Given the description of an element on the screen output the (x, y) to click on. 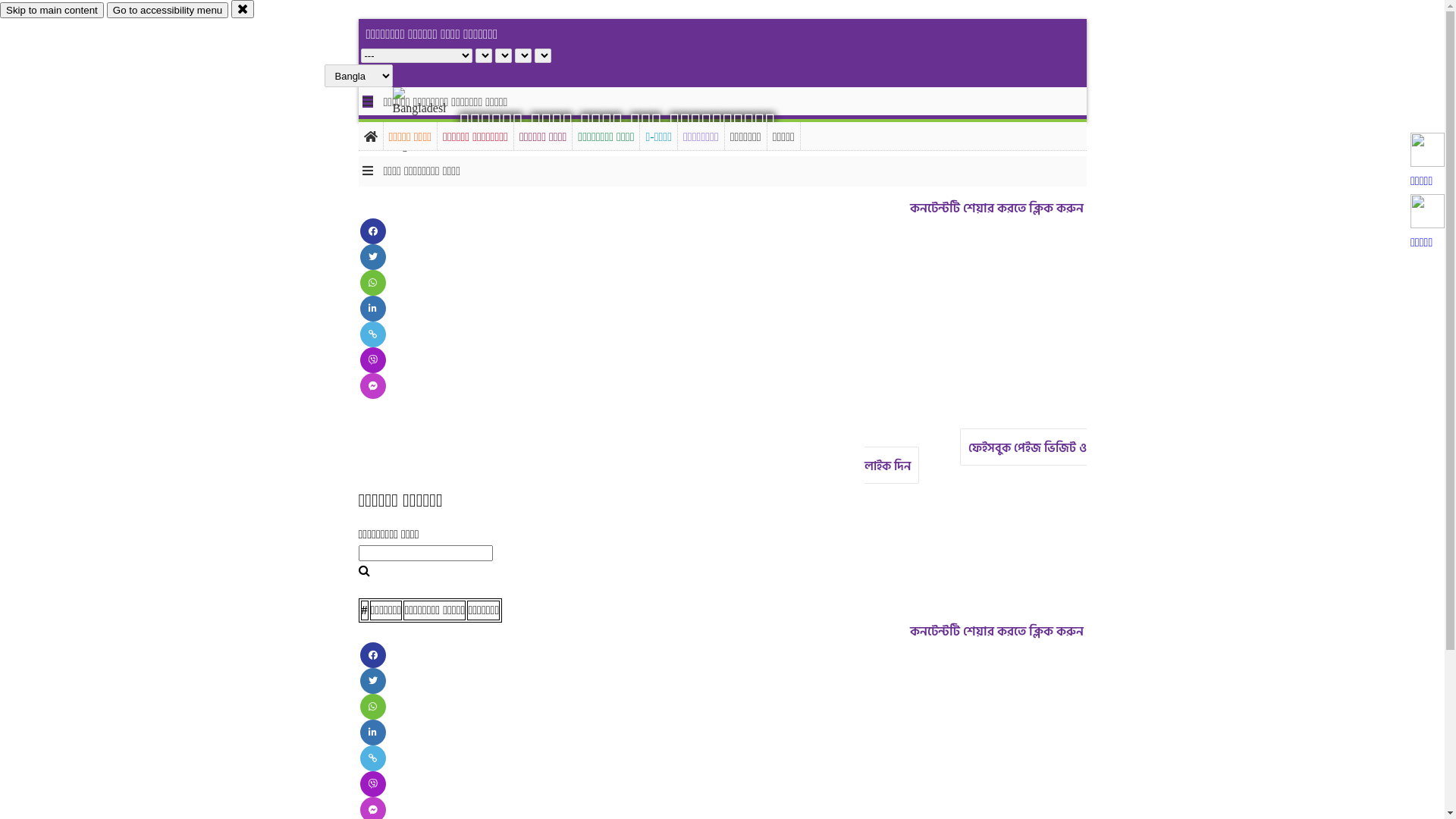

                
             Element type: hover (431, 120)
Go to accessibility menu Element type: text (167, 10)
Skip to main content Element type: text (51, 10)
close Element type: hover (242, 9)
